Given the description of an element on the screen output the (x, y) to click on. 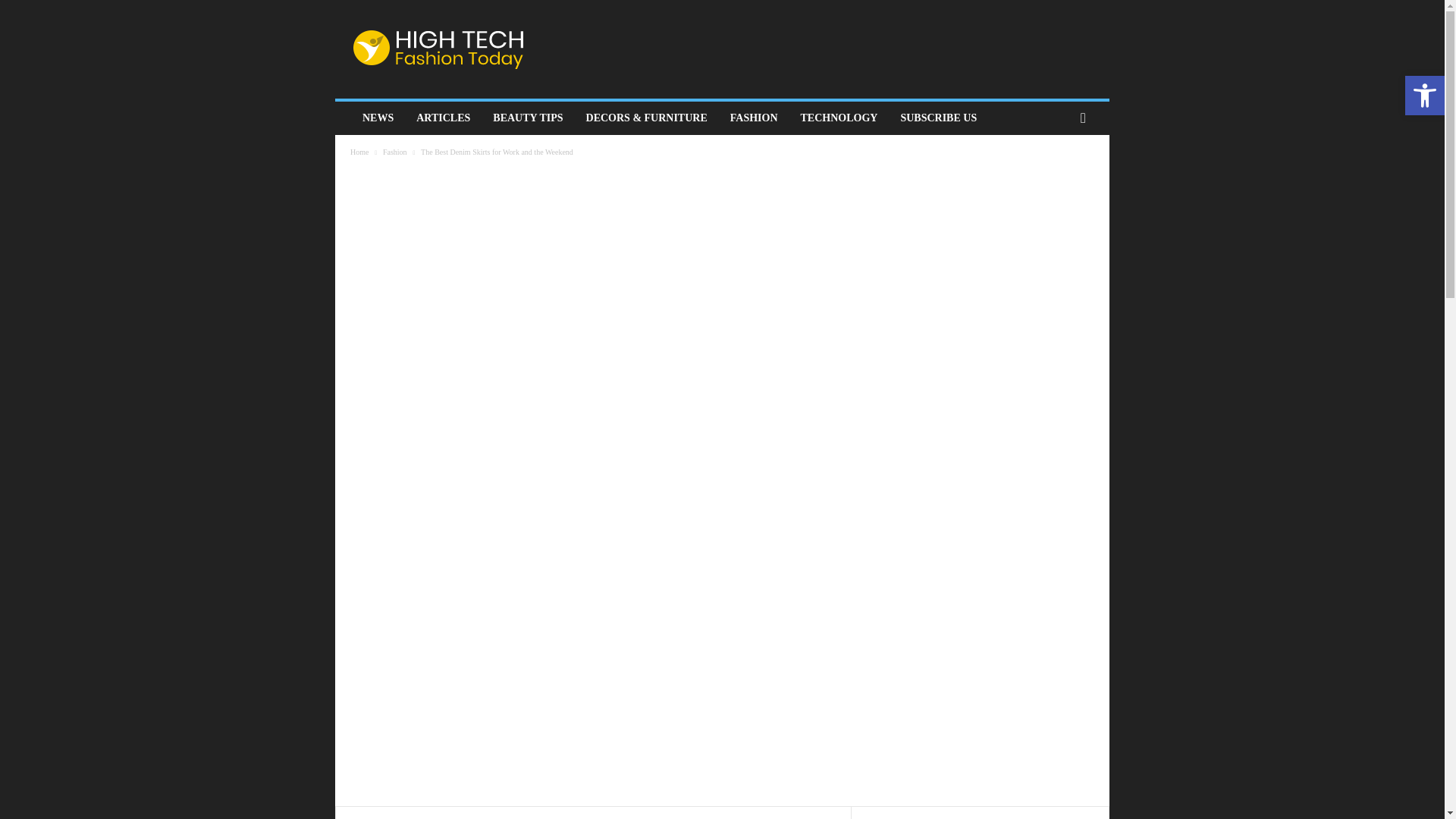
HighTech Fashion Today (437, 48)
Accessibility Tools (1424, 95)
TECHNOLOGY (839, 118)
ARTICLES (442, 118)
View all posts in Fashion (394, 152)
Home (359, 152)
FASHION (754, 118)
BEAUTY TIPS (527, 118)
SUBSCRIBE US (938, 118)
NEWS (377, 118)
